Given the description of an element on the screen output the (x, y) to click on. 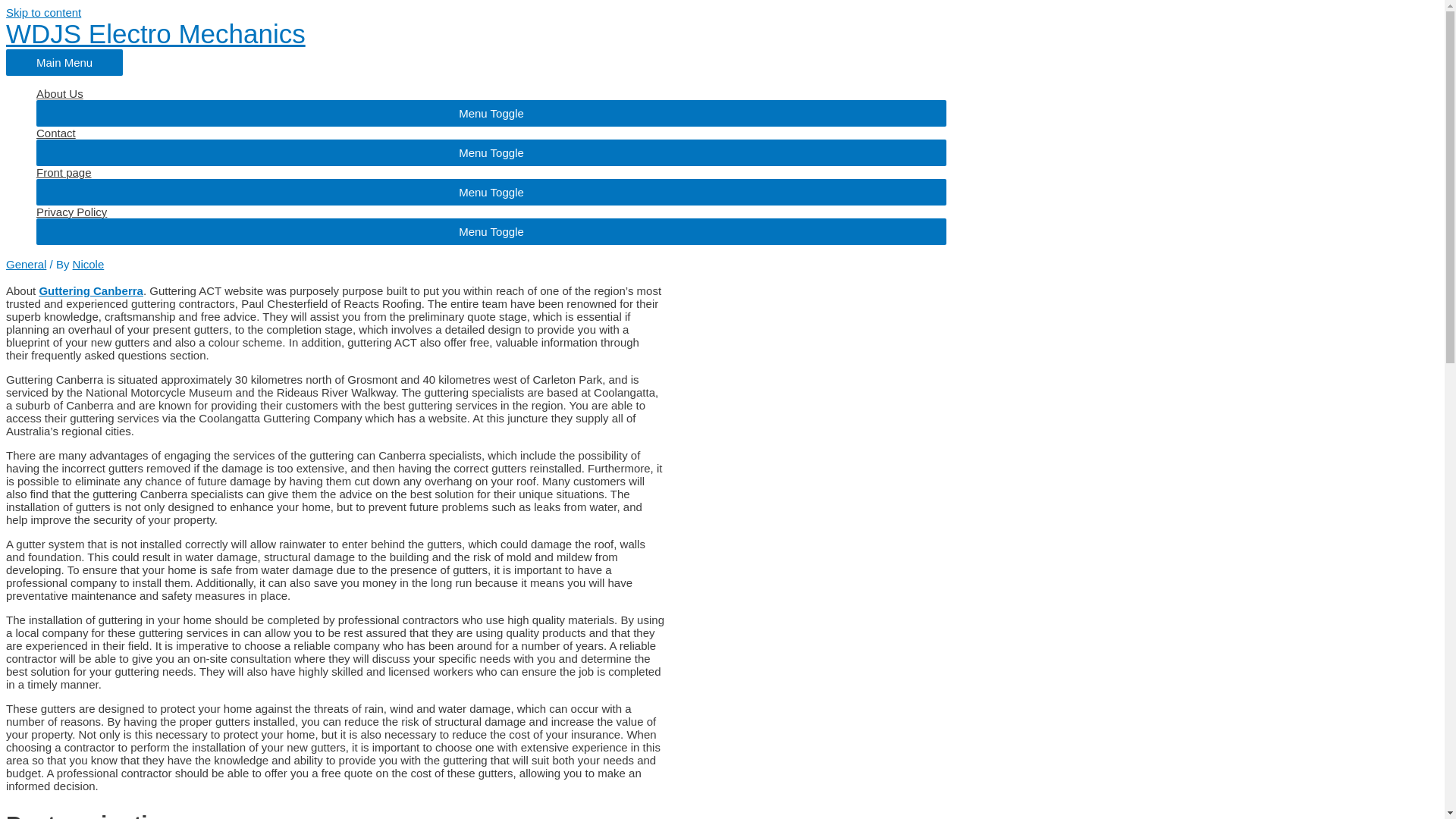
Menu Toggle (491, 112)
Front page (491, 172)
Skip to content (43, 11)
About Us (491, 92)
Nicole (88, 264)
Main Menu (63, 62)
Contact (491, 132)
Privacy Policy (491, 211)
Menu Toggle (491, 231)
Guttering Canberra (90, 290)
